Given the description of an element on the screen output the (x, y) to click on. 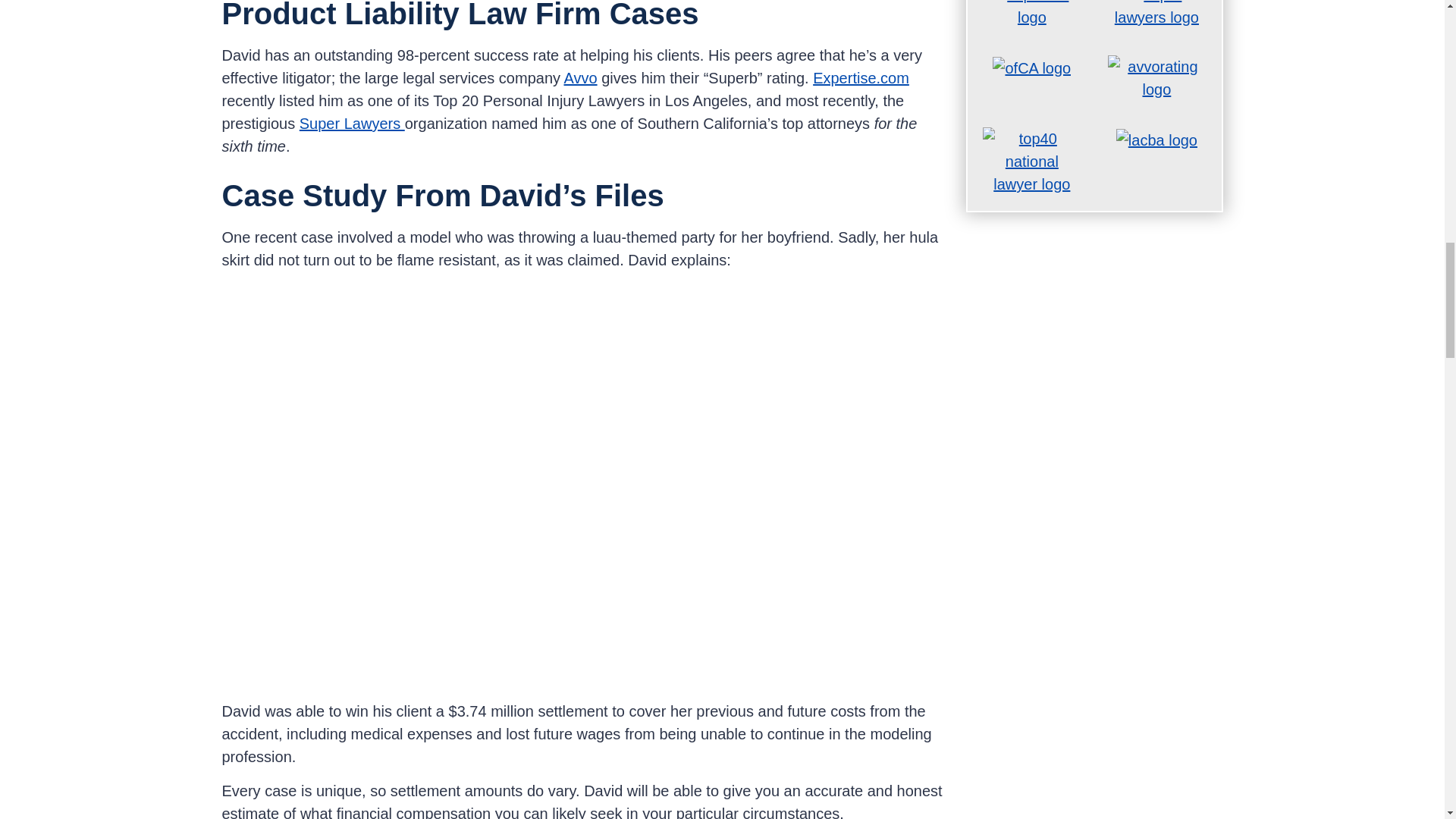
Expertise.com (860, 77)
Avvo (579, 77)
Super Lawyers (351, 123)
